Given the description of an element on the screen output the (x, y) to click on. 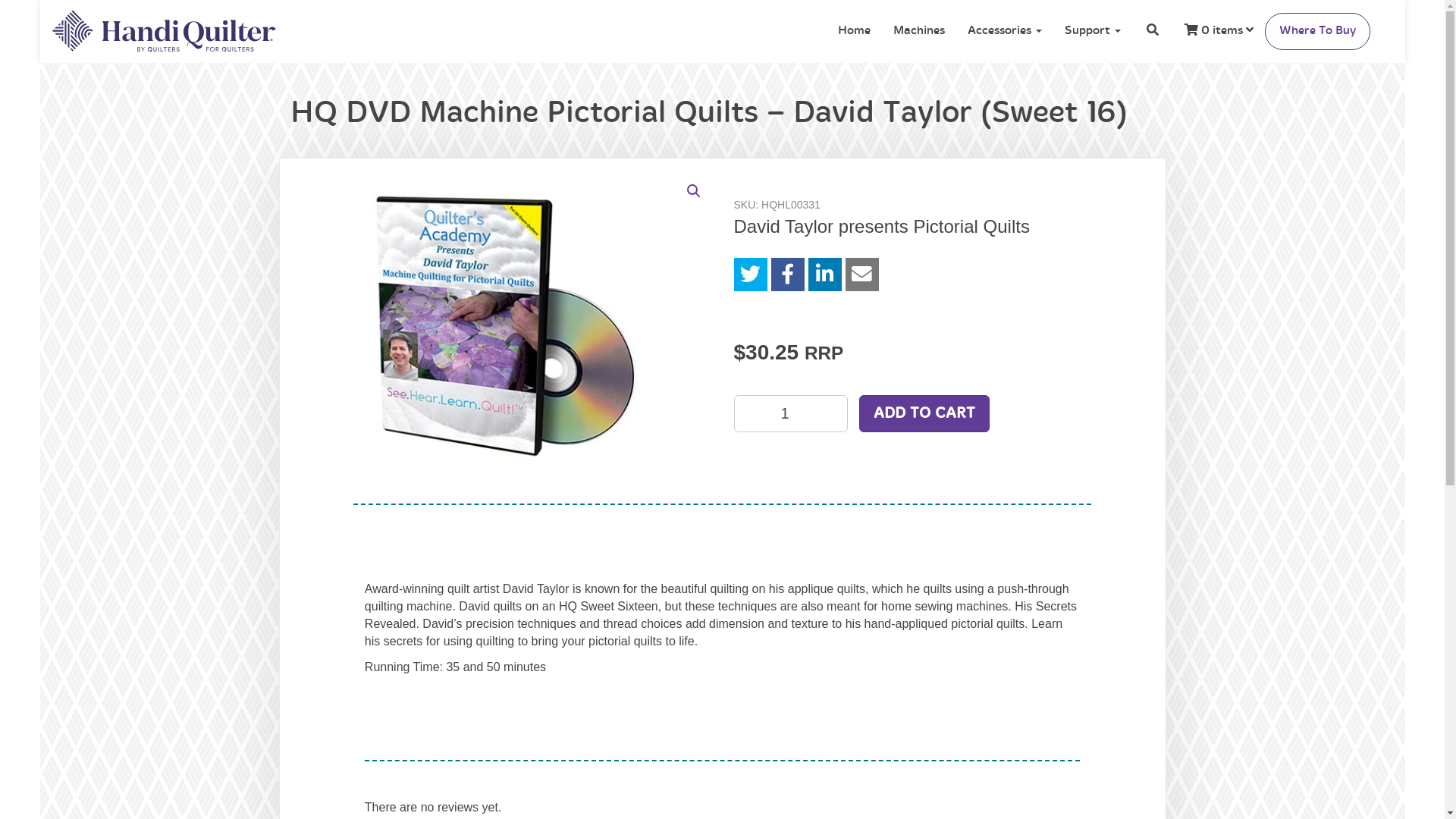
Accessories Element type: text (1003, 30)
Support Element type: text (1091, 30)
Machines Element type: text (918, 30)
0 items Element type: text (1218, 30)
DT Vol 2 Element type: hover (501, 326)
Share on Twitter Element type: hover (750, 274)
Share on Facebook Element type: hover (786, 274)
Share on LinkedIn Element type: hover (824, 274)
Home Element type: text (853, 30)
Share by Email Element type: hover (861, 274)
ADD TO CART Element type: text (923, 413)
Where To Buy Element type: text (1317, 31)
